Given the description of an element on the screen output the (x, y) to click on. 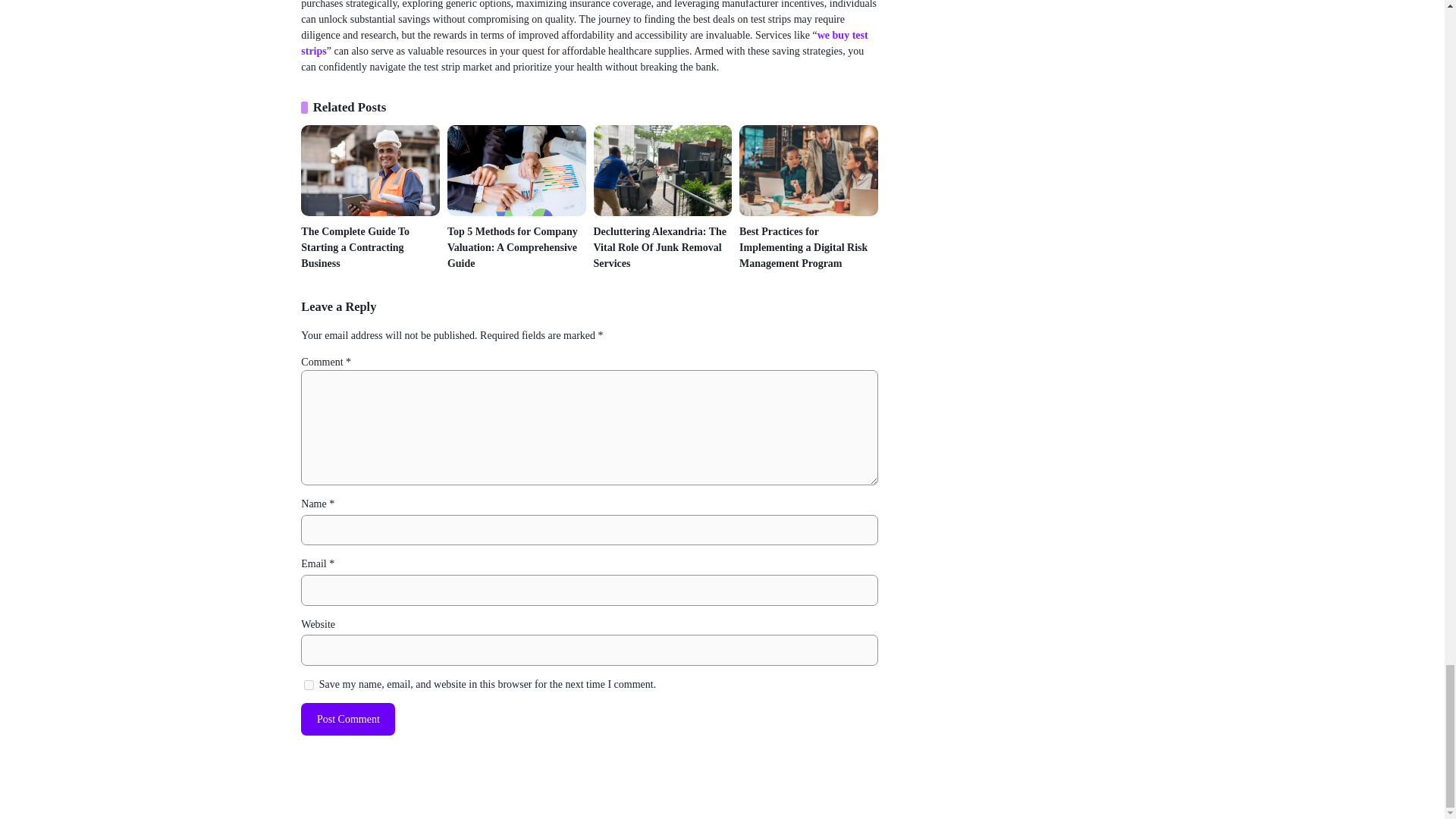
Post Comment (347, 719)
yes (309, 685)
